Given the description of an element on the screen output the (x, y) to click on. 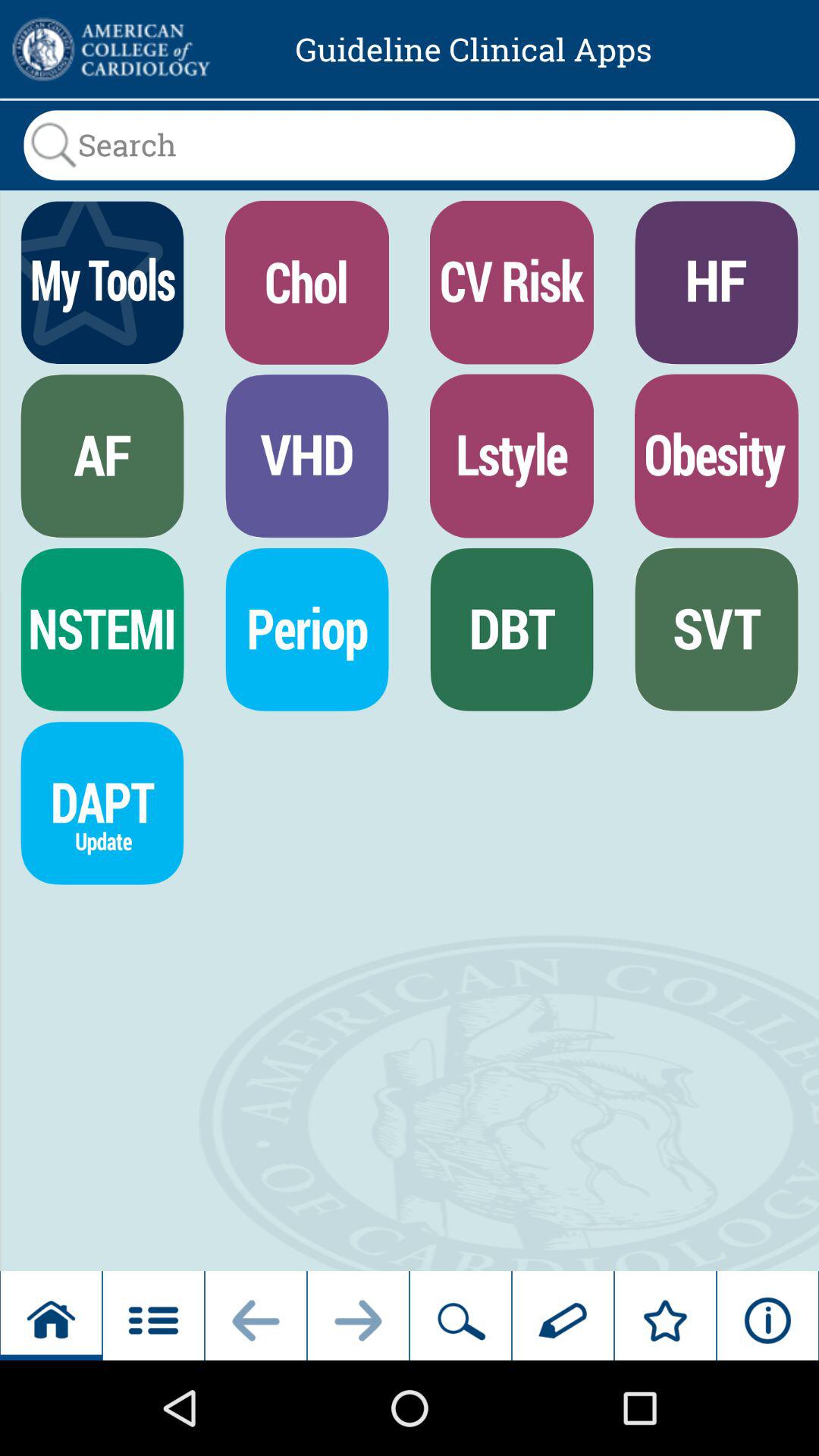
press the icon next to the guideline clinical apps (109, 49)
